Given the description of an element on the screen output the (x, y) to click on. 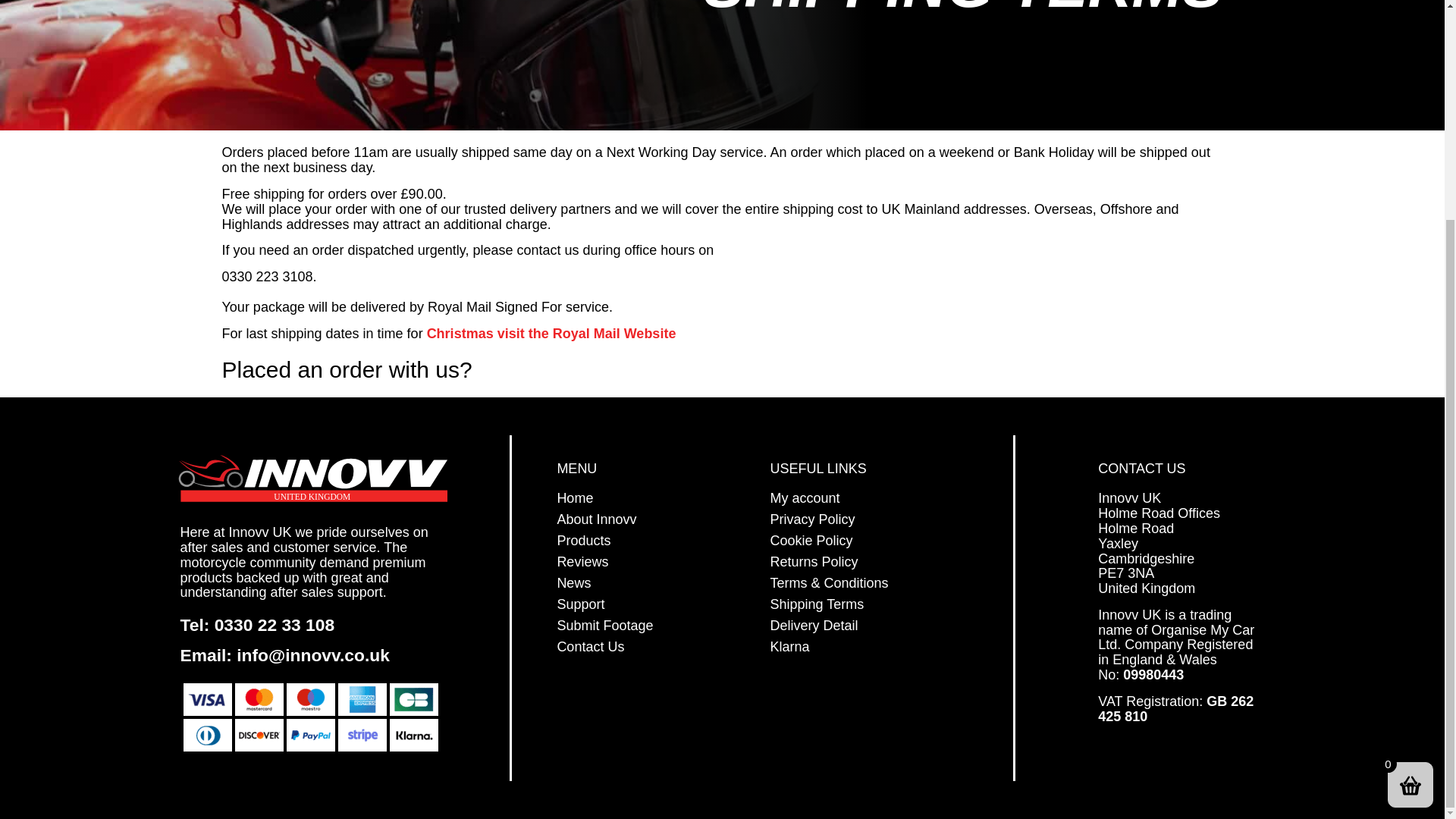
Innovv UK Logo White on Black (315, 478)
